Given the description of an element on the screen output the (x, y) to click on. 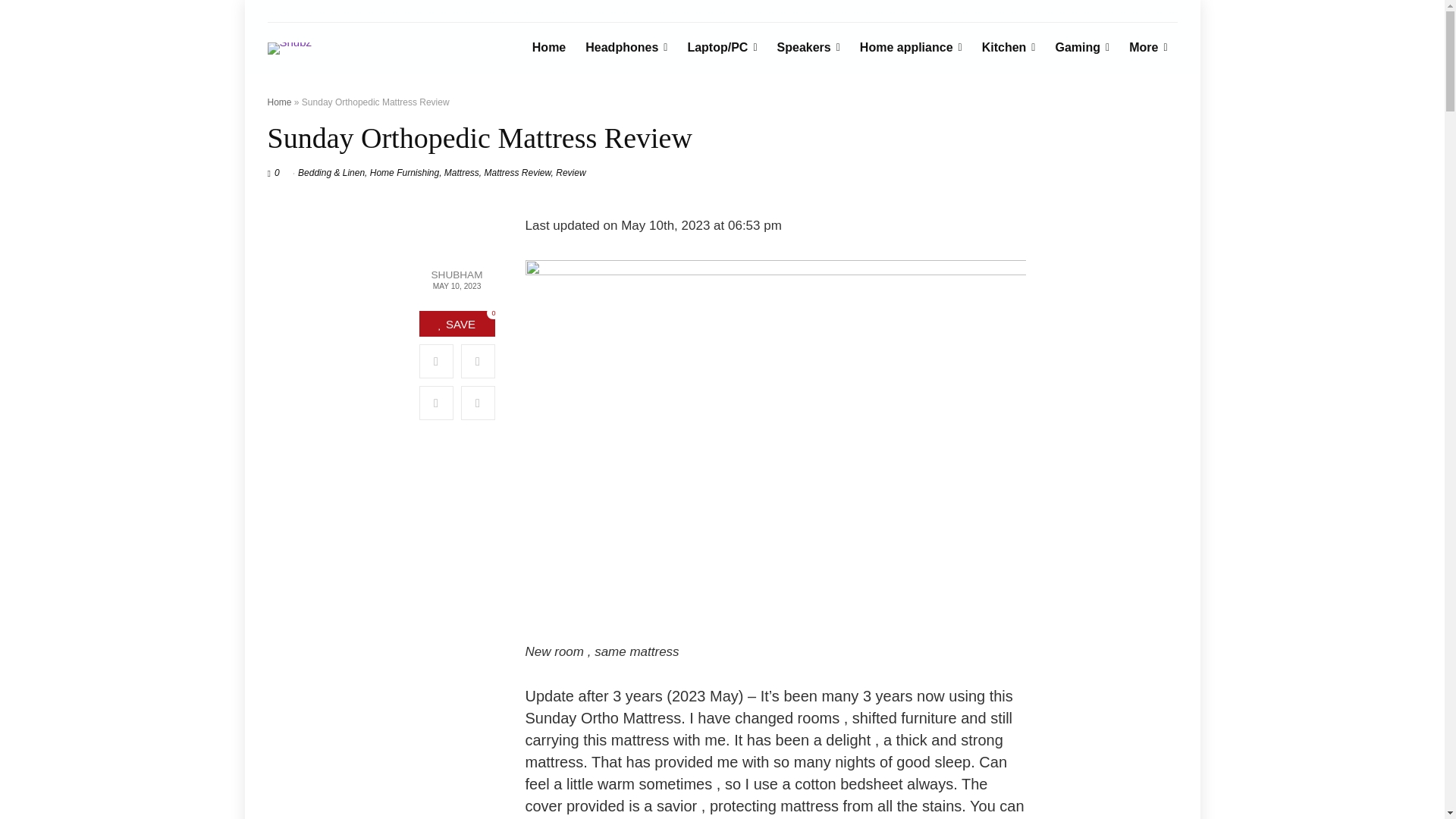
View all posts in Mattress (461, 172)
View all posts in Mattress Review (517, 172)
View all posts in Review (570, 172)
Home (548, 48)
View all posts in Home Furnishing (404, 172)
Headphones (626, 48)
